Given the description of an element on the screen output the (x, y) to click on. 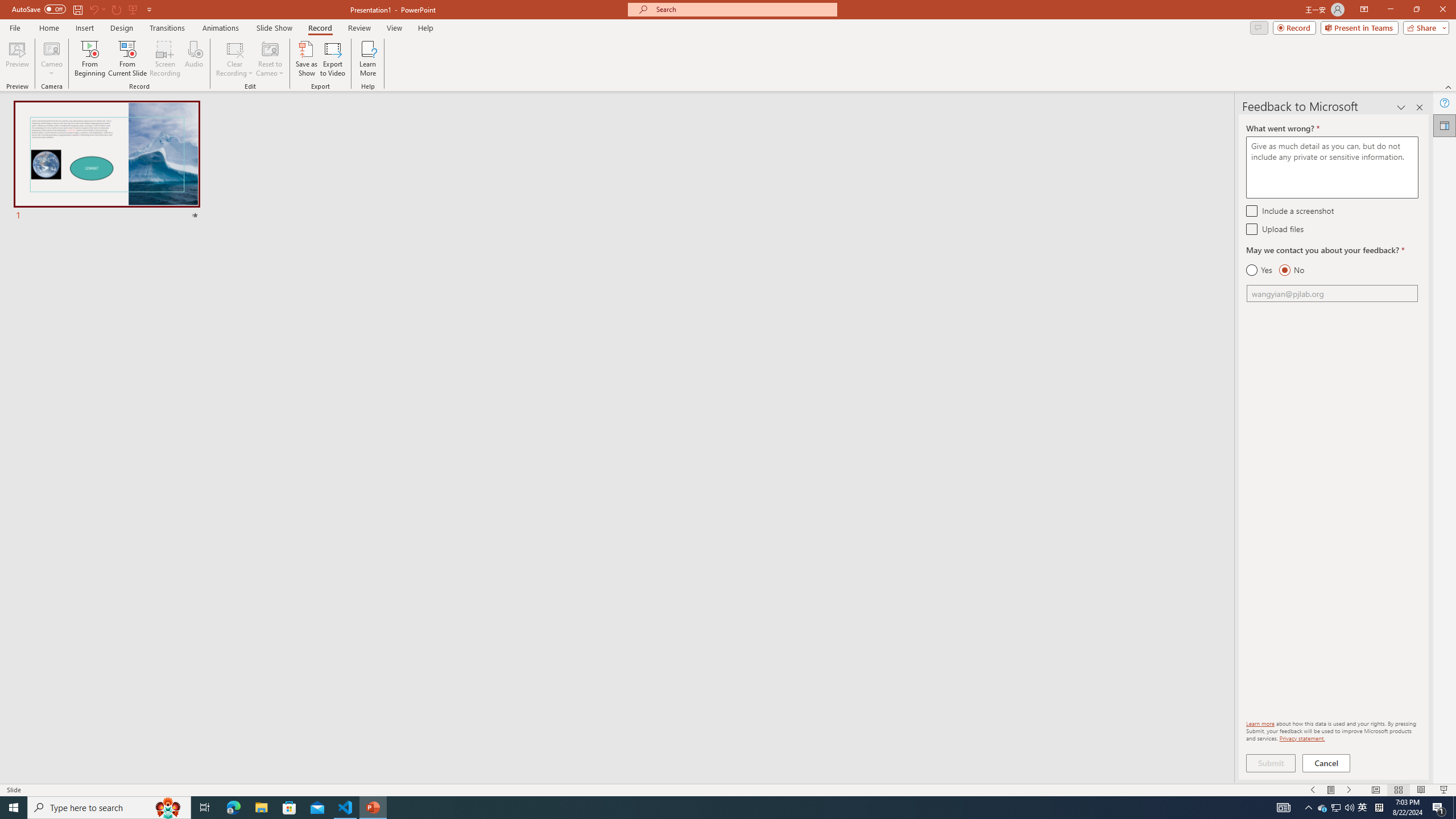
Email (1332, 293)
Slide Show Next On (1349, 790)
